Given the description of an element on the screen output the (x, y) to click on. 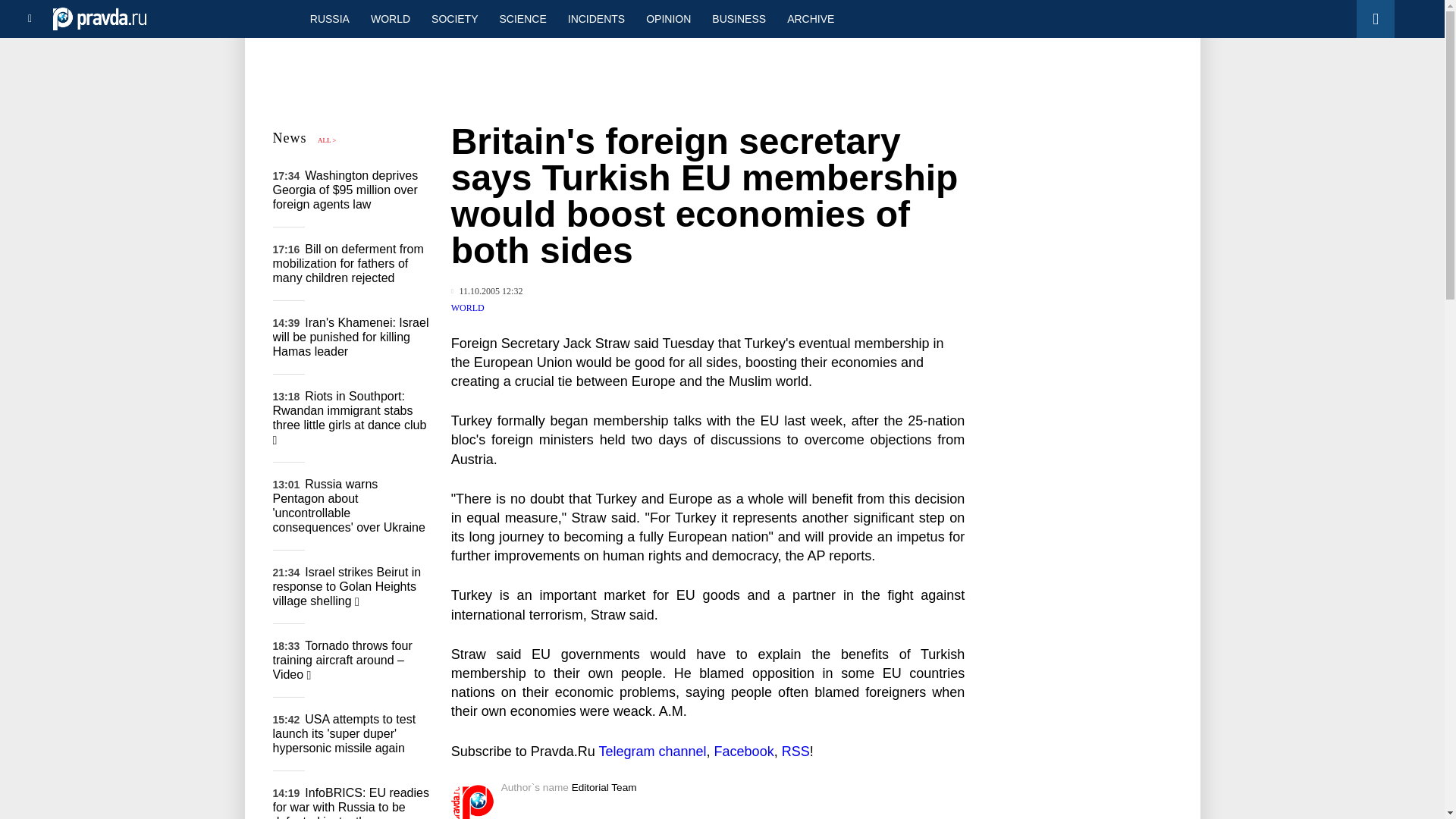
RUSSIA (329, 18)
Facebook (744, 751)
OPINION (667, 18)
Telegram channel (652, 751)
SOCIETY (453, 18)
Published (486, 291)
Editorial Team (604, 787)
BUSINESS (738, 18)
SCIENCE (523, 18)
RSS (795, 751)
